Given the description of an element on the screen output the (x, y) to click on. 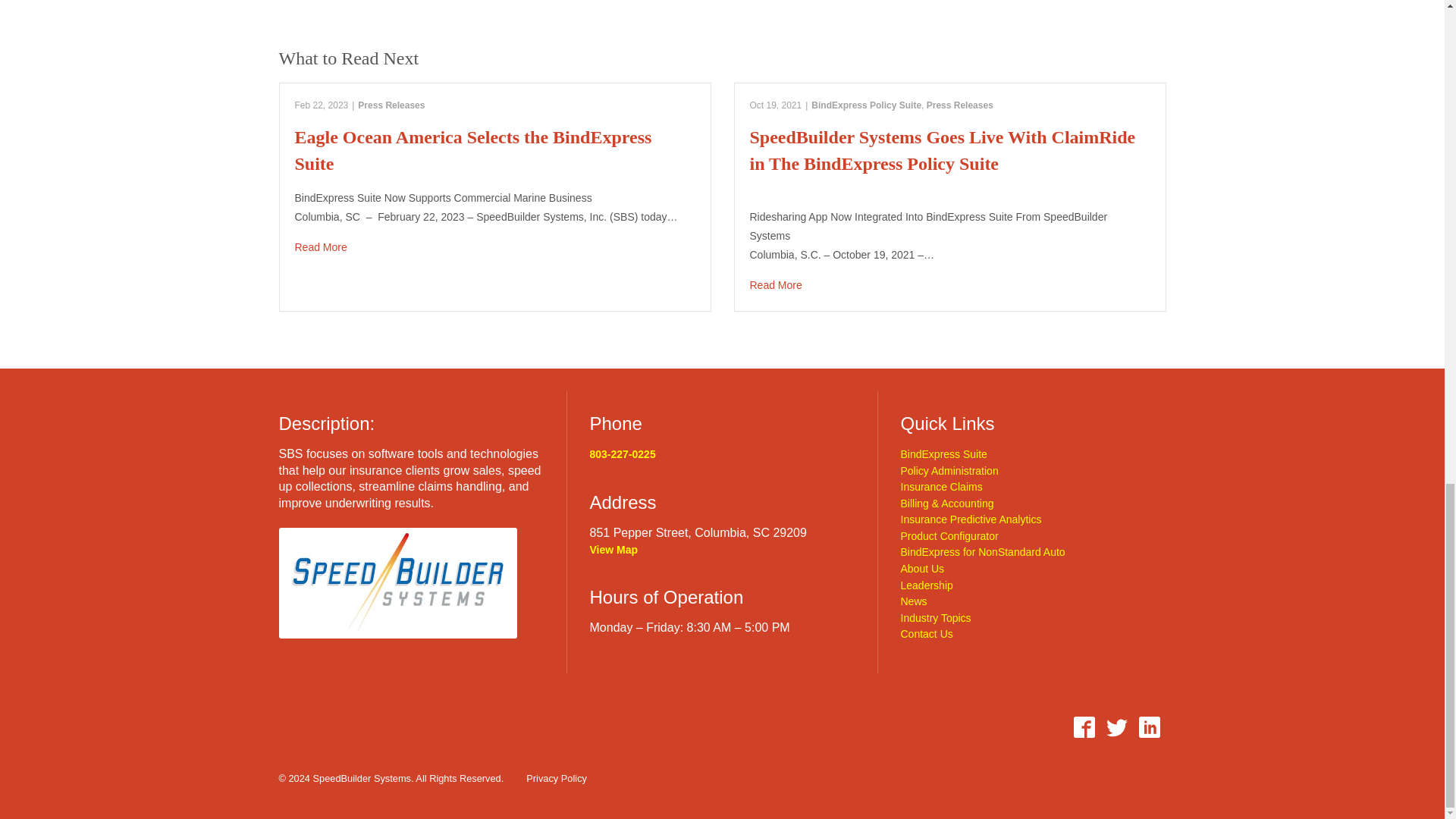
Eagle Ocean America Selects the BindExpress Suite (494, 247)
twitter (1117, 727)
linkedin (1149, 727)
facebook (1083, 727)
